Given the description of an element on the screen output the (x, y) to click on. 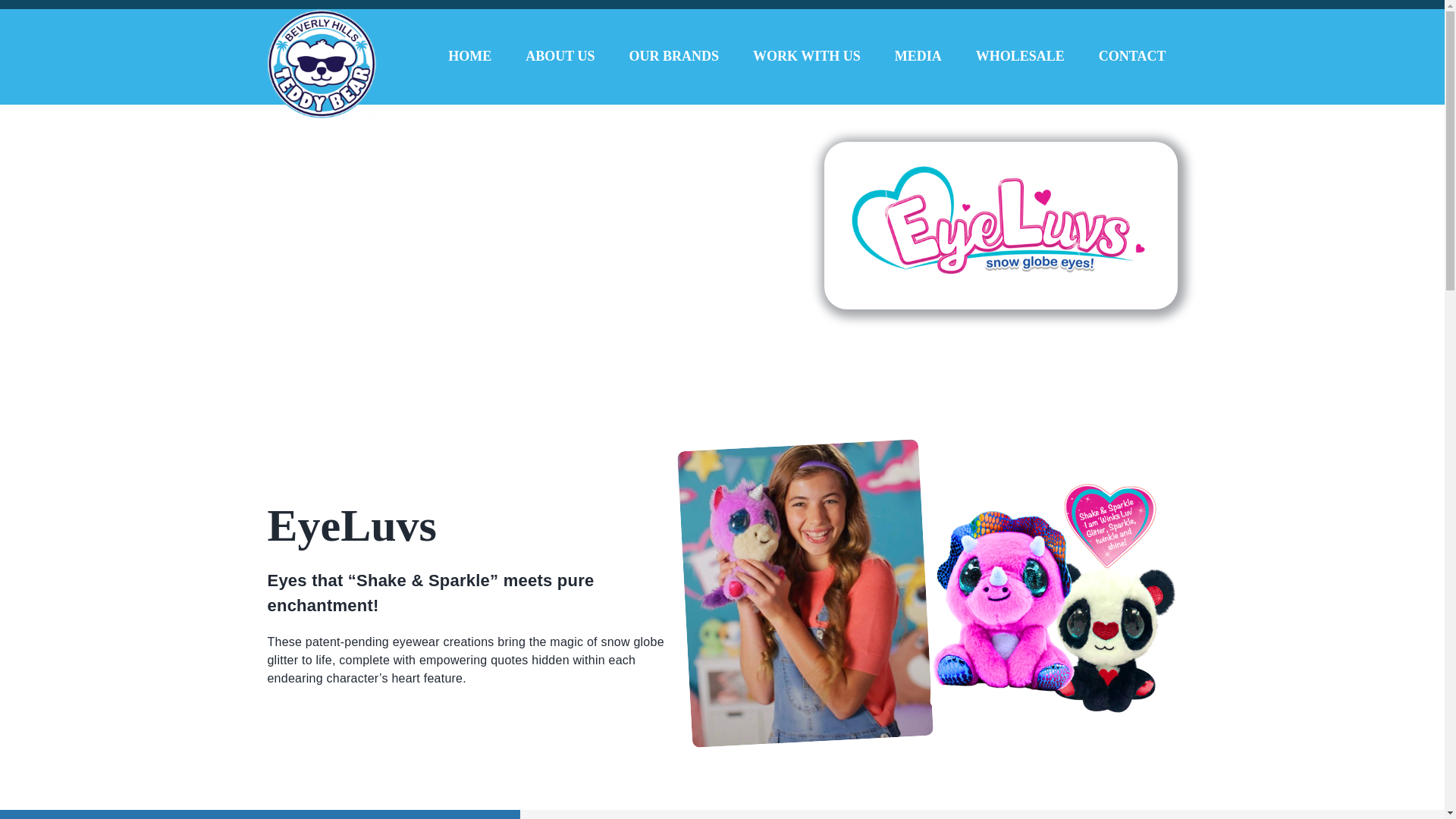
CONTACT (1132, 56)
Eyeluvs (1050, 587)
ABOUT US (559, 56)
WORK WITH US (806, 56)
OUR BRANDS (673, 56)
MEDIA (918, 56)
HOME (469, 56)
Our Brands: (370, 190)
WHOLESALE (1019, 56)
logo (1000, 225)
